Given the description of an element on the screen output the (x, y) to click on. 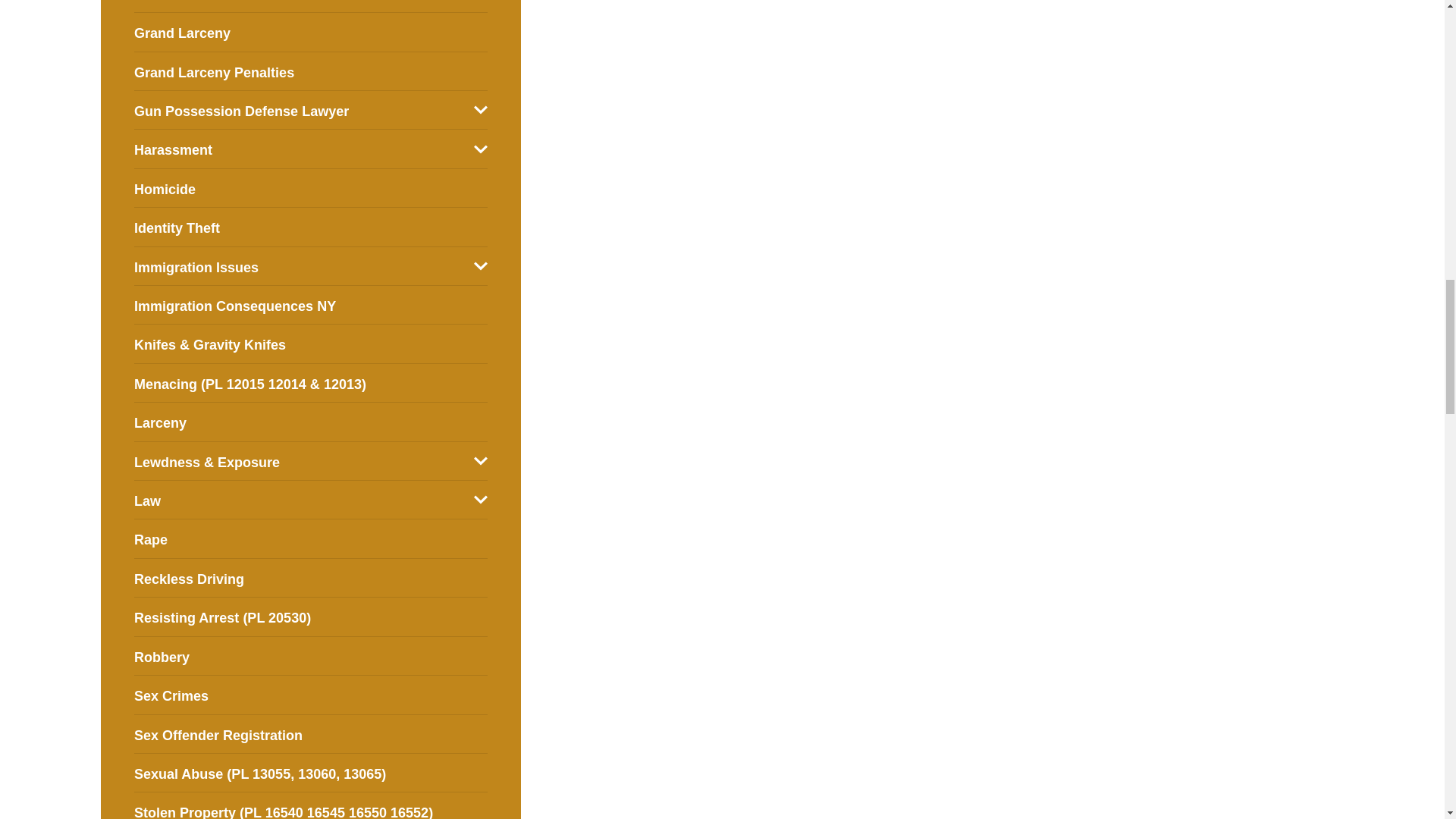
Open child menu of Harassment (480, 149)
Open child menu of Law (480, 499)
Open child menu of Gun Possession Defense Lawyer (480, 110)
Open child menu of Immigration Issues (480, 265)
